Given the description of an element on the screen output the (x, y) to click on. 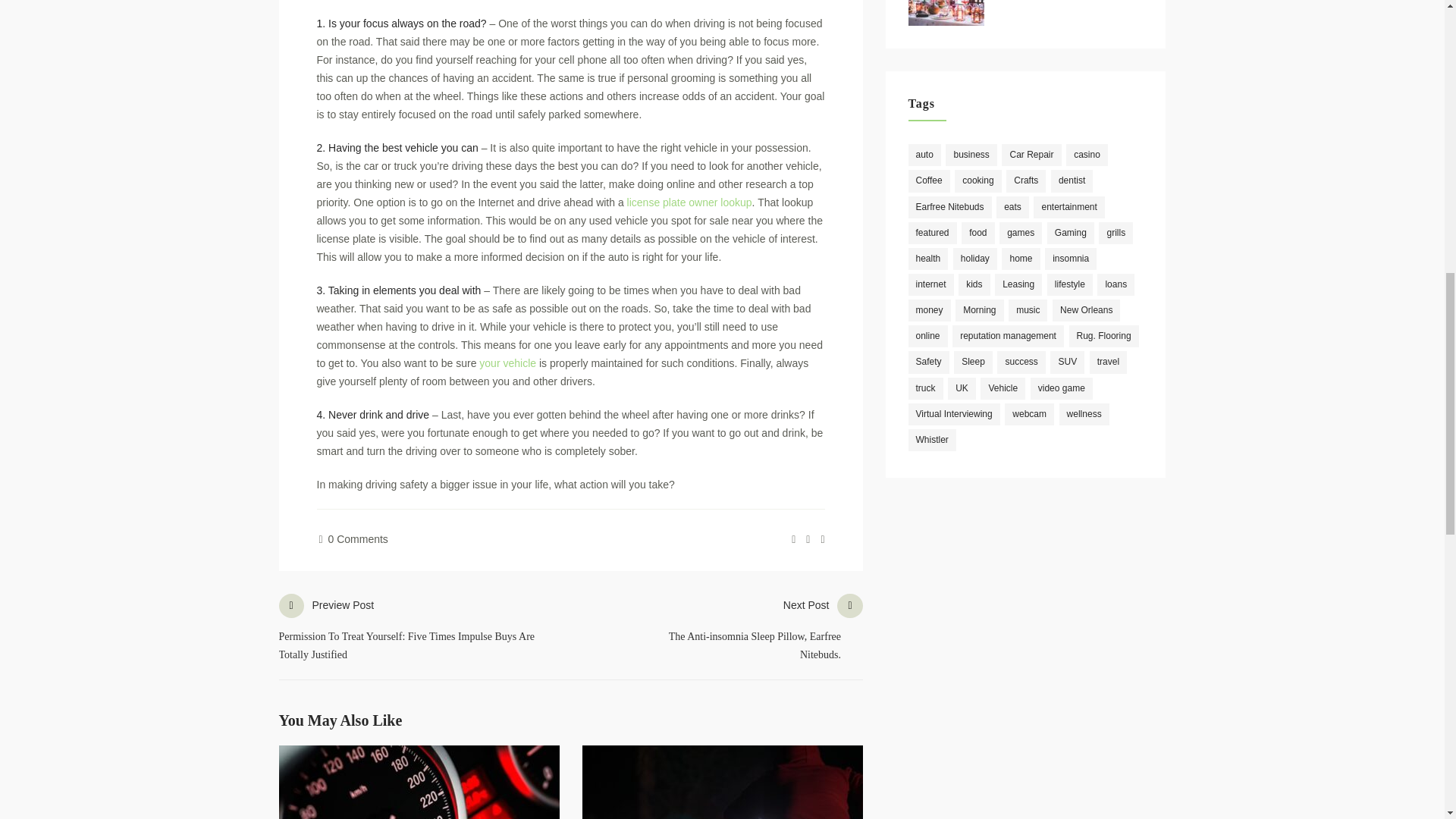
your vehicle (507, 363)
0 Comments (352, 539)
license plate owner lookup (689, 202)
next post (754, 630)
prev post (424, 630)
